Given the description of an element on the screen output the (x, y) to click on. 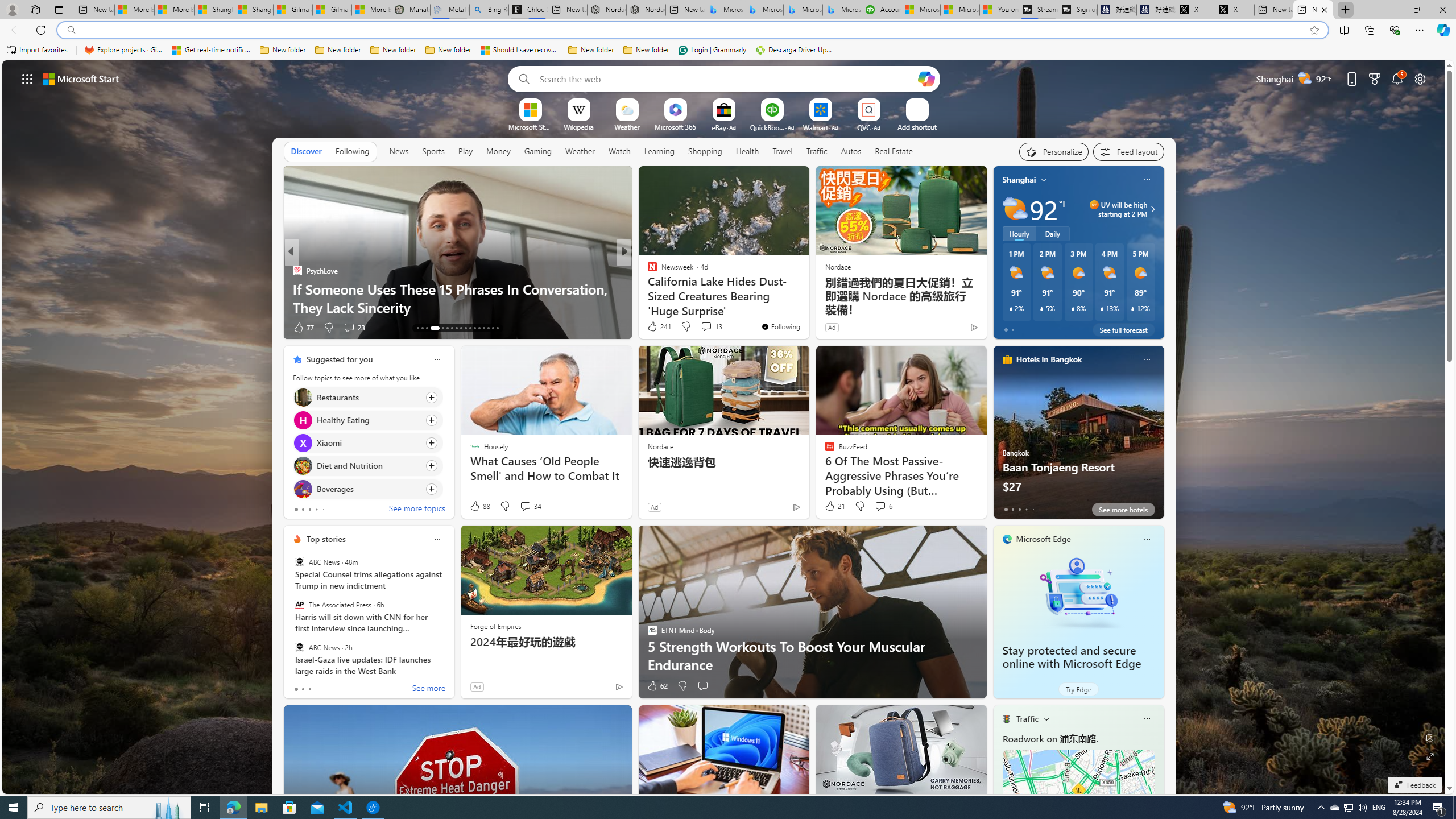
AutomationID: tab-20 (456, 328)
AutomationID: tab-15 (426, 328)
Earth (647, 288)
Baan Tonjaeng Resort (1078, 436)
Click to follow topic Restaurants (367, 397)
Chloe Sorvino (528, 9)
Beverages (302, 488)
